Given the description of an element on the screen output the (x, y) to click on. 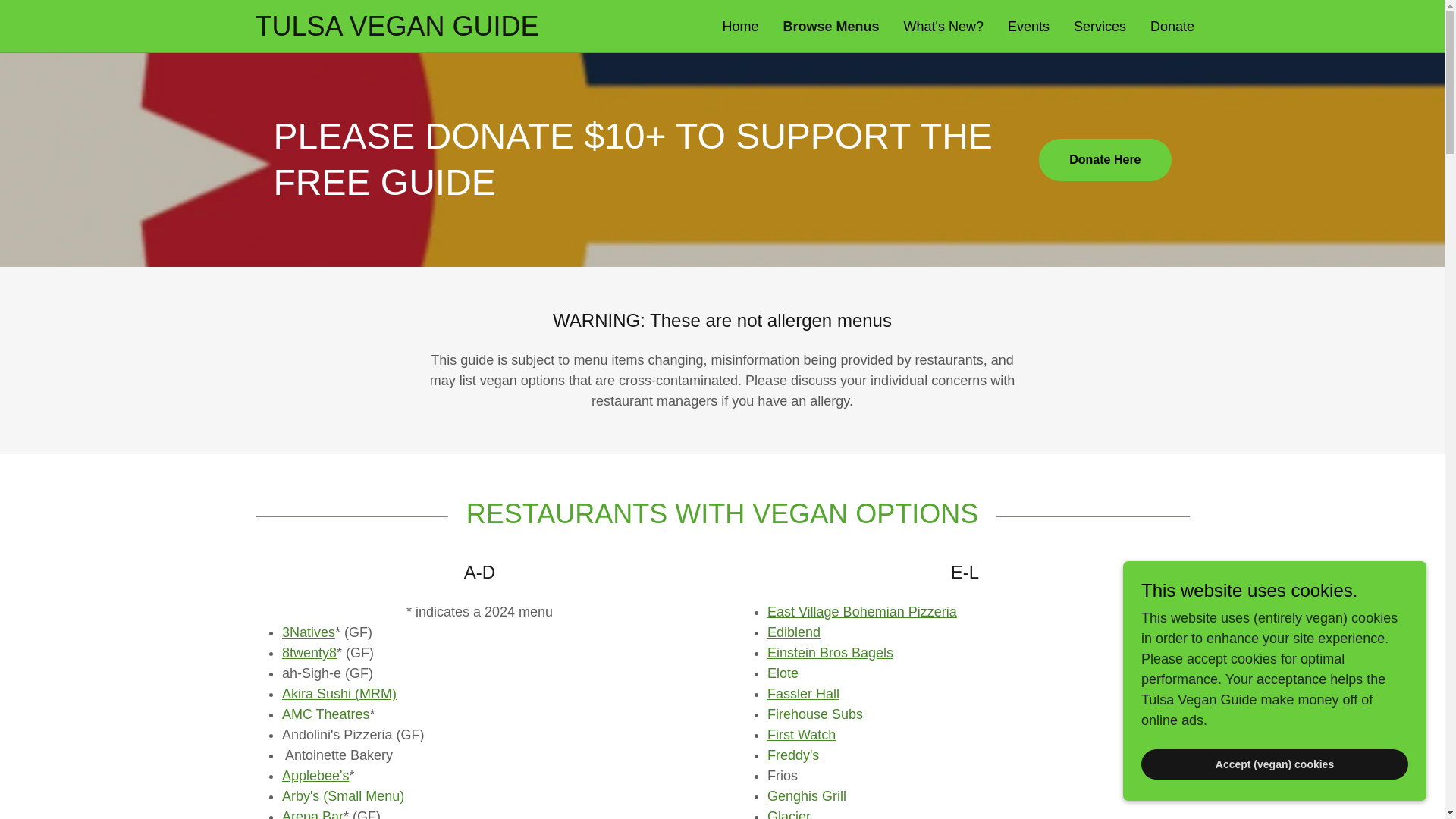
Events (1028, 25)
AMC Theatres (325, 713)
What's New? (943, 25)
Browse Menus (831, 25)
3Natives (308, 631)
8twenty8 (309, 652)
Applebee's (315, 775)
Home (739, 25)
TULSA VEGAN GUIDE (488, 30)
Donate Here (1104, 159)
